Given the description of an element on the screen output the (x, y) to click on. 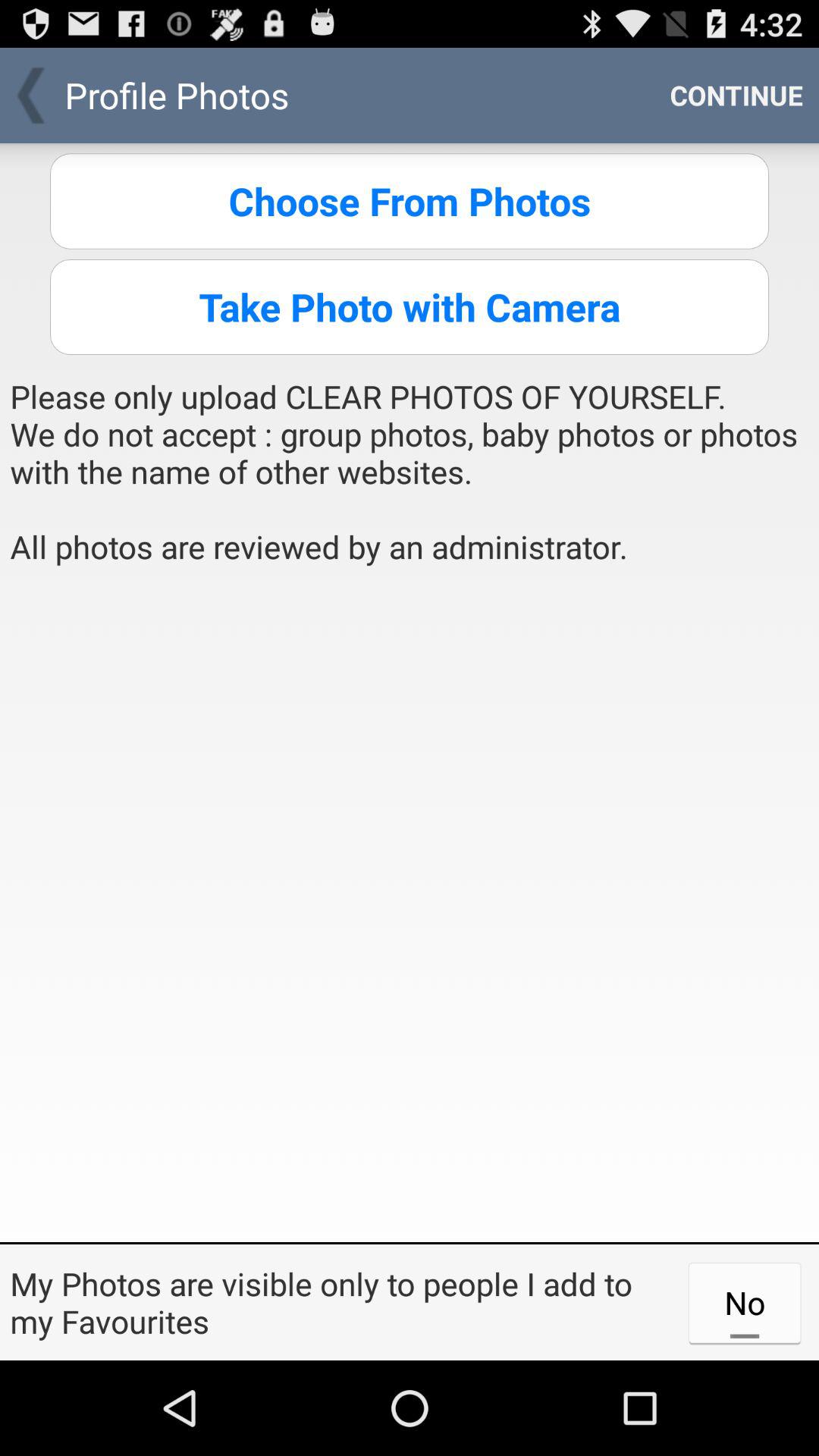
turn off choose from photos (409, 201)
